Given the description of an element on the screen output the (x, y) to click on. 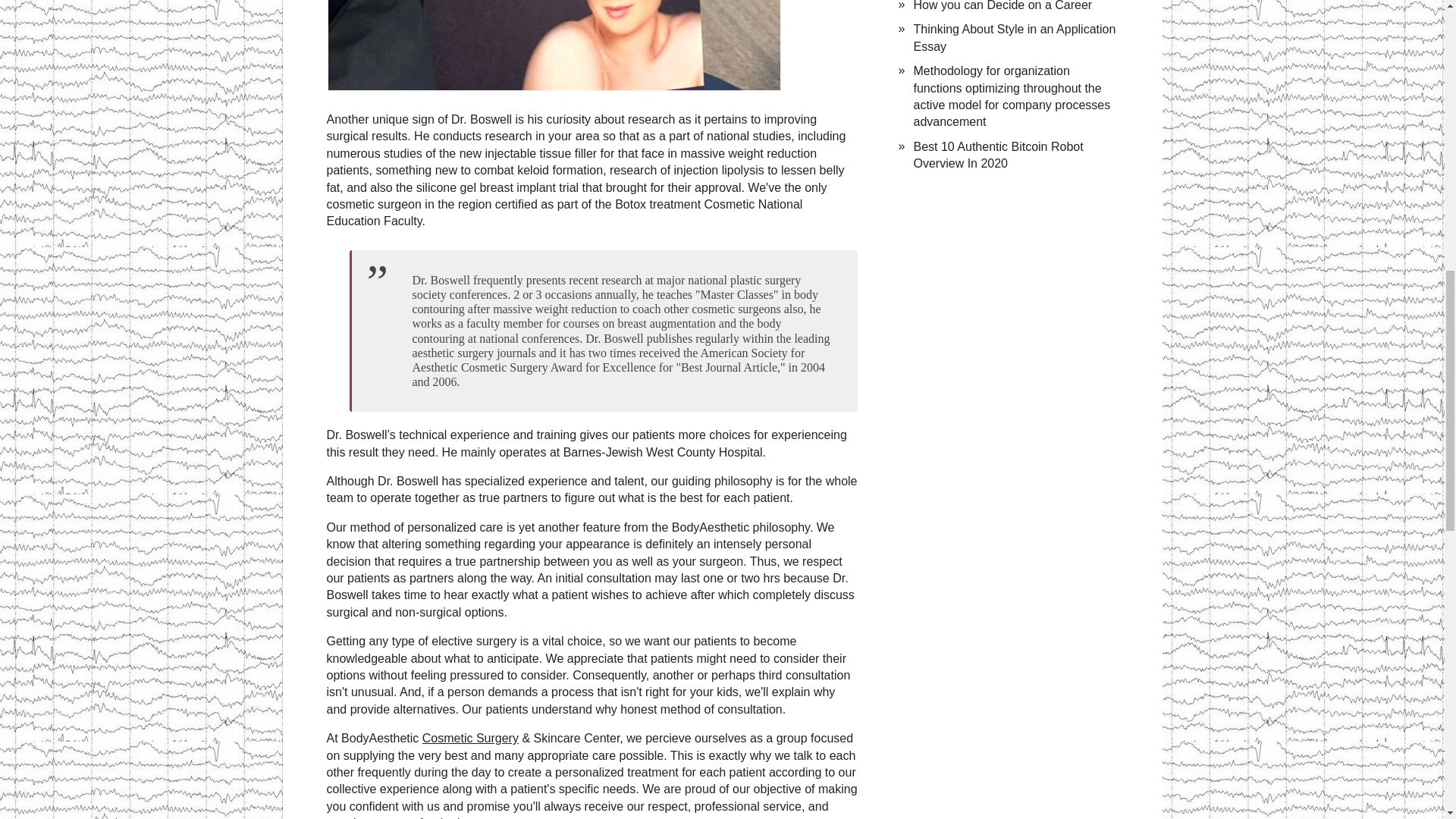
Thinking About Style in an Application Essay (1013, 37)
How you can Decide on a Career (1002, 5)
Best 10 Authentic Bitcoin Robot Overview In 2020 (997, 154)
Cosmetic Surgery (470, 738)
St. louis cosmetic surgery We are proud of our (553, 45)
